Given the description of an element on the screen output the (x, y) to click on. 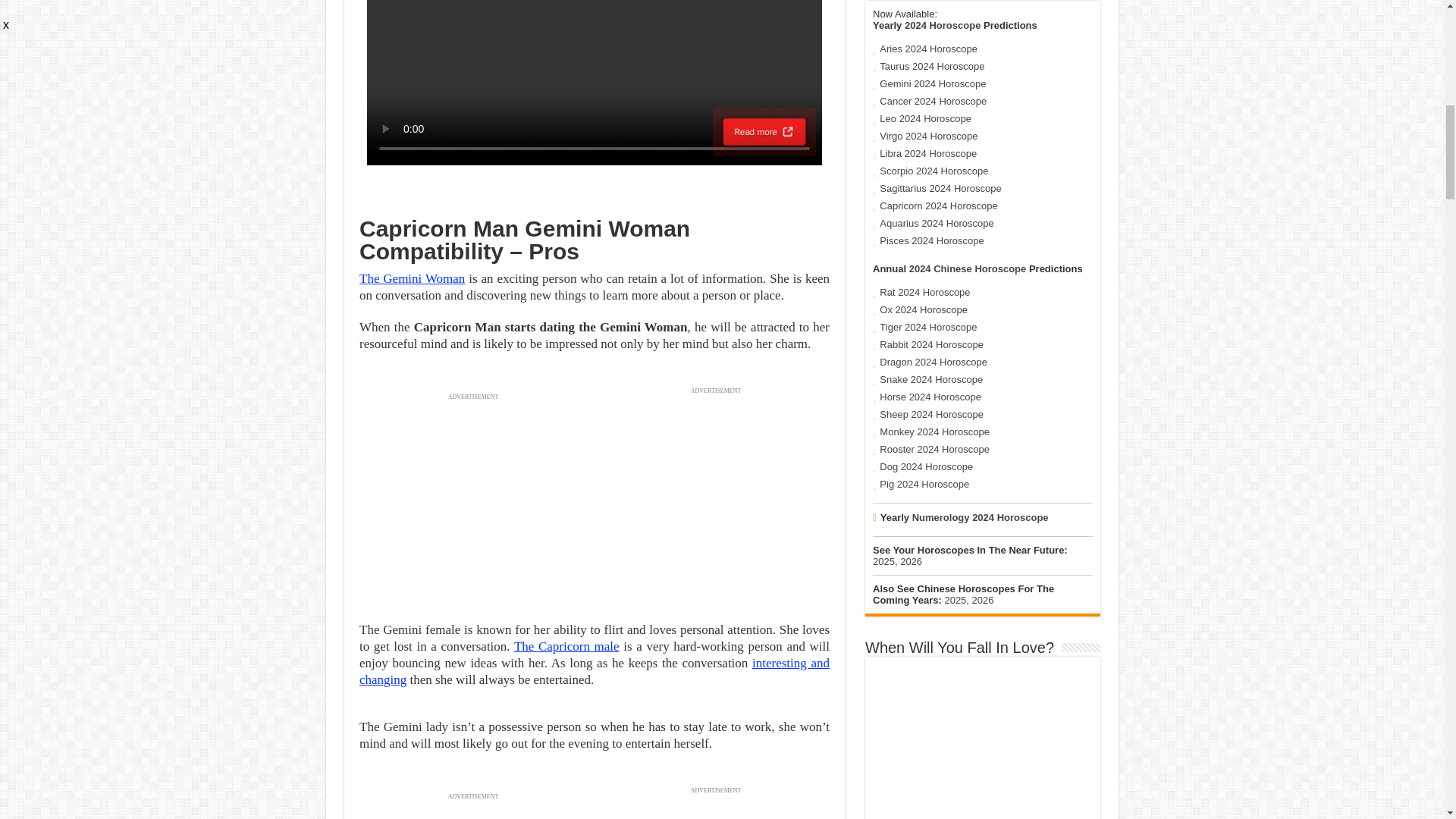
interesting and changing (594, 671)
Read more (766, 132)
The Gemini Woman (411, 278)
The Capricorn male (566, 646)
